Given the description of an element on the screen output the (x, y) to click on. 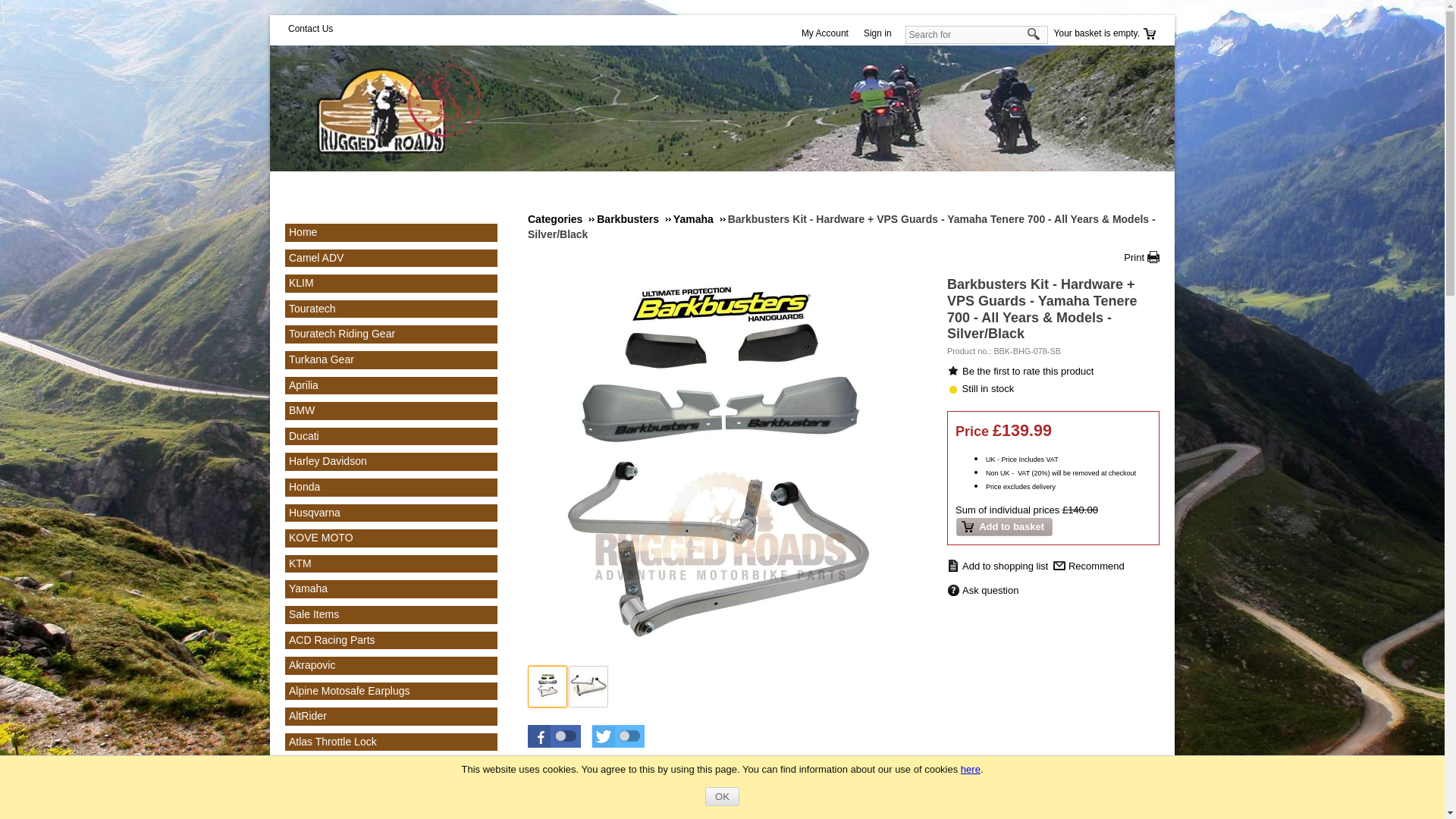
My Account (829, 32)
ACD Racing Parts (331, 639)
Turkana Gear (320, 358)
Atlas Throttle Lock (332, 741)
Akrapovic (311, 664)
Alpine Motosafe Earplugs (349, 690)
Touratech Riding Gear (341, 333)
Husqvarna (314, 512)
AXP Racing (317, 766)
Honda (304, 486)
Contact Us (310, 28)
Ducati (303, 435)
Sign in (881, 32)
Harley Davidson (327, 460)
